Given the description of an element on the screen output the (x, y) to click on. 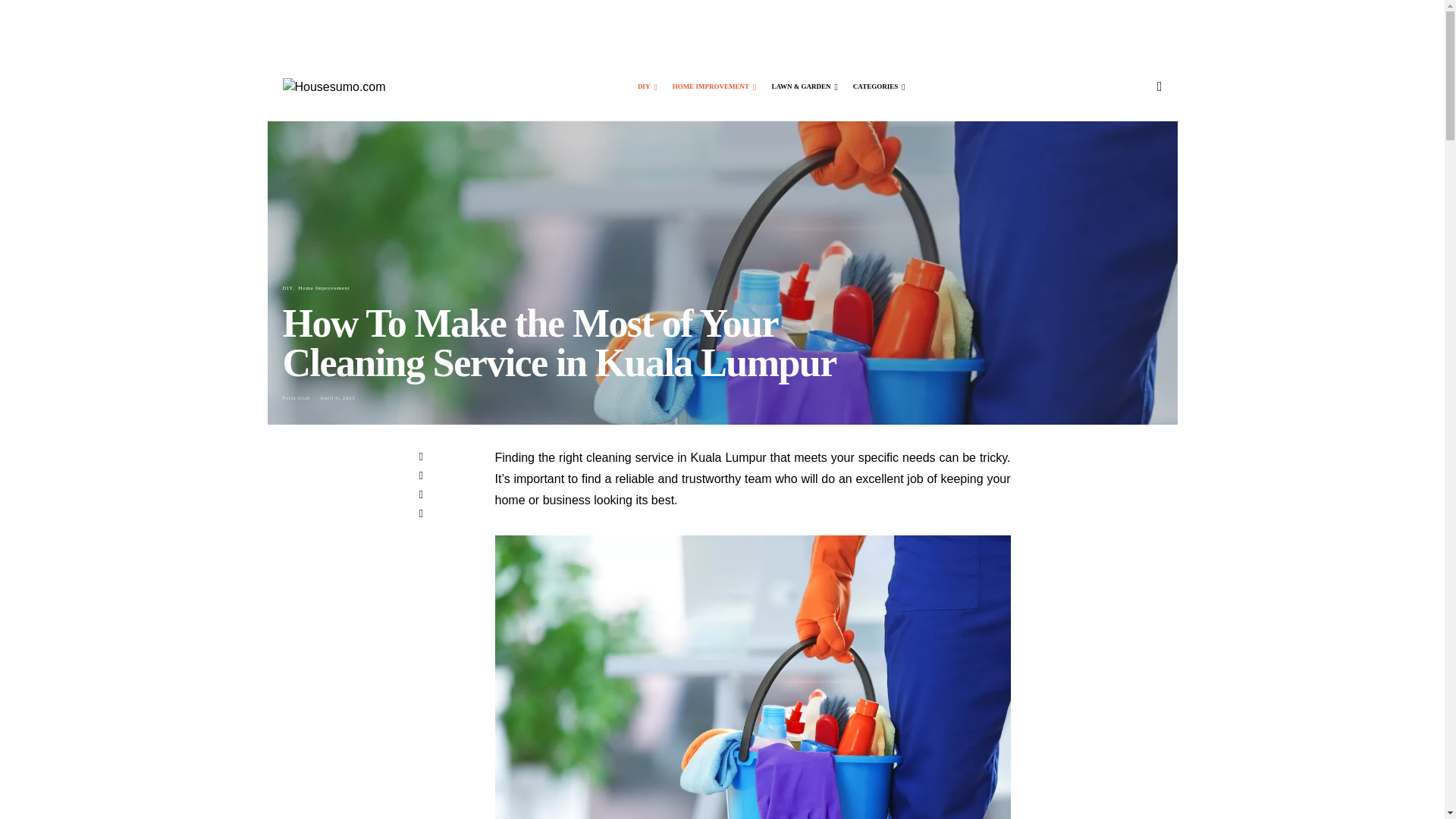
DIY (647, 86)
View all posts by Perla Irish (296, 396)
